Given the description of an element on the screen output the (x, y) to click on. 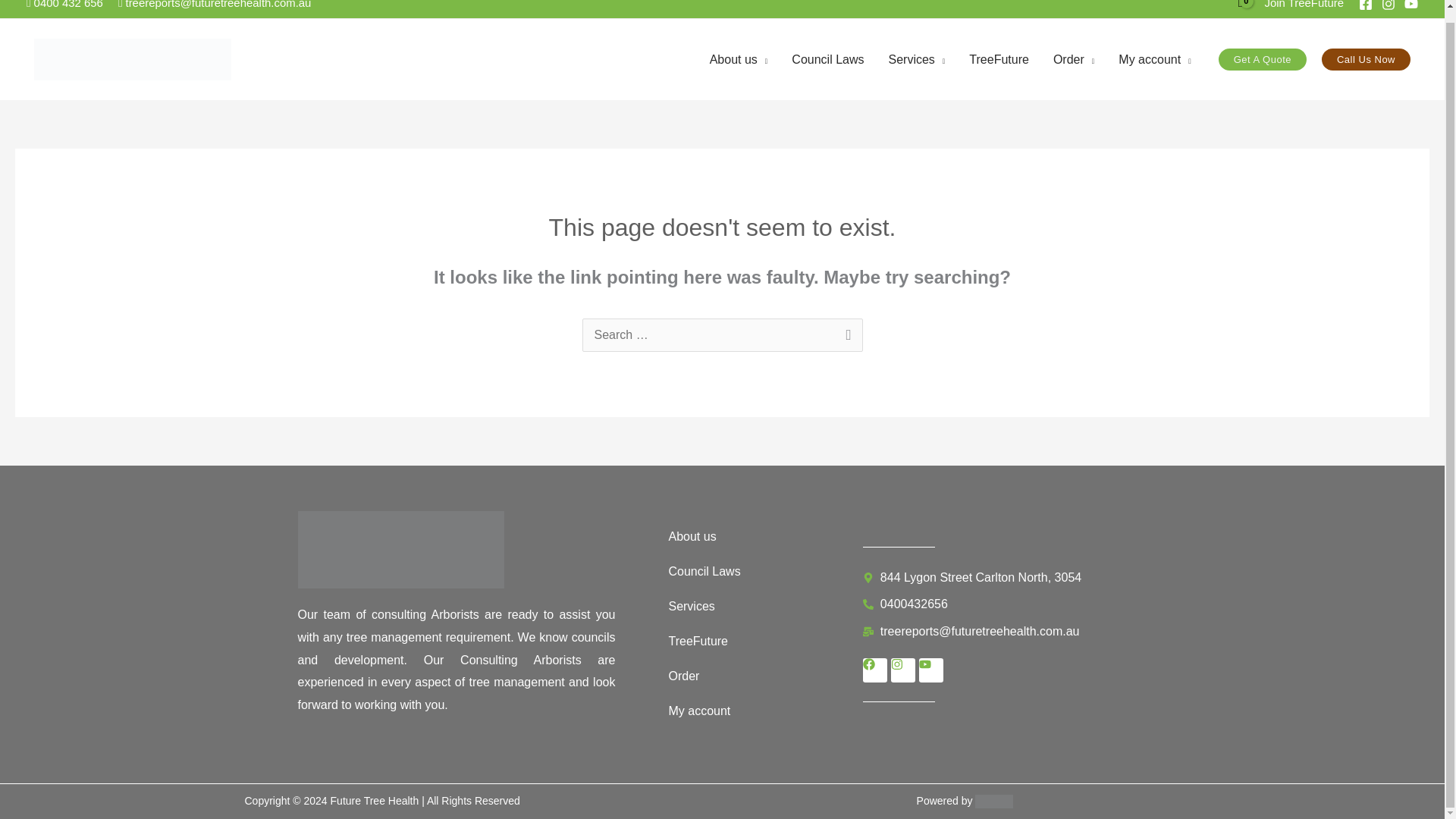
Call Us Now (1366, 59)
Services (916, 58)
TreeFuture (998, 58)
Get A Quote (1262, 59)
Join TreeFuture (1303, 4)
About us (738, 58)
Council Laws (827, 58)
 0400 432 656 (64, 4)
My account (1154, 58)
Order (1073, 58)
